Given the description of an element on the screen output the (x, y) to click on. 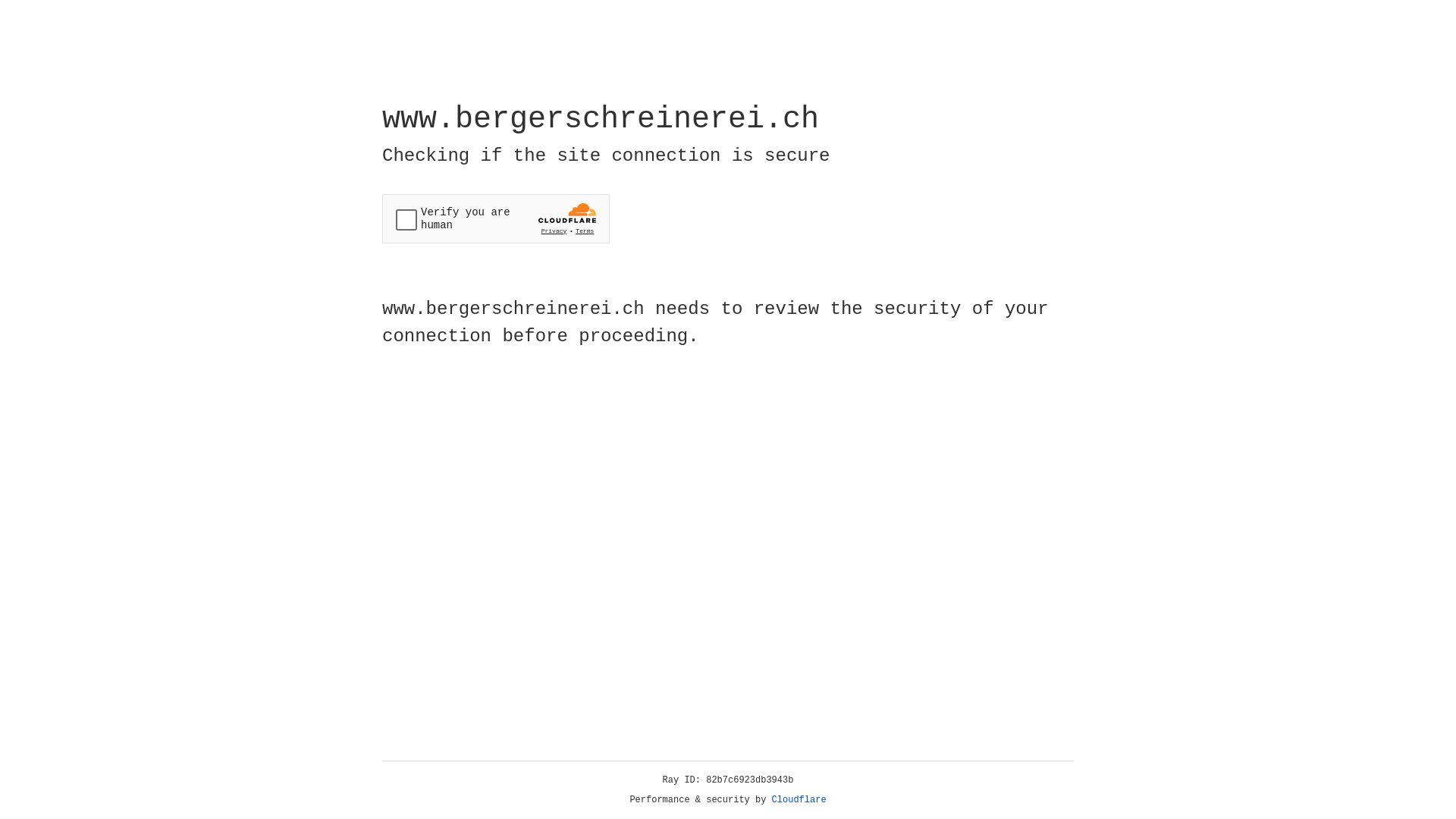
Cloudflare Element type: text (798, 799)
Widget containing a Cloudflare security challenge Element type: hover (495, 218)
